Given the description of an element on the screen output the (x, y) to click on. 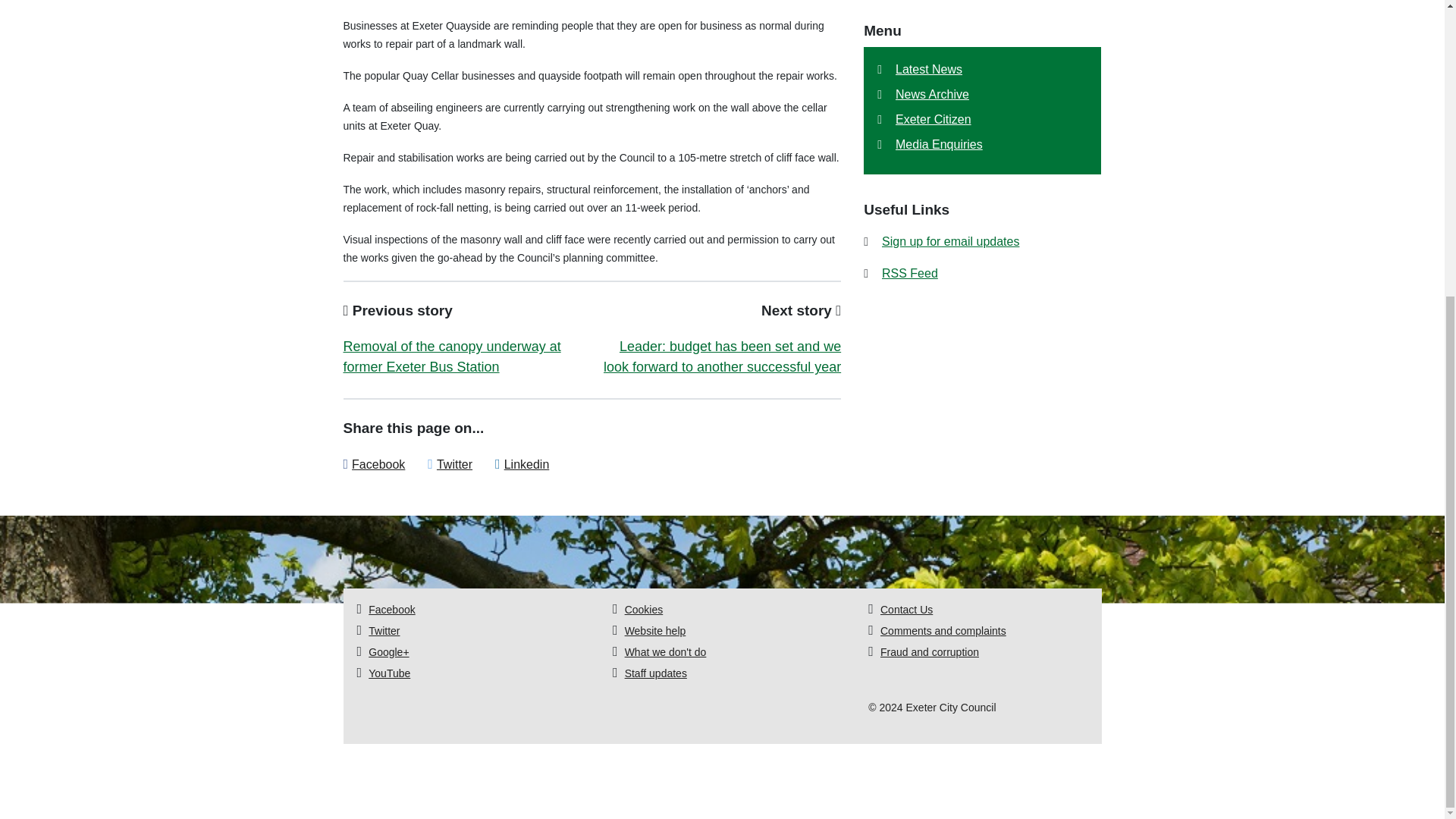
Fraud and corruption (929, 652)
Cookies (643, 609)
Removal of the canopy underway at former Exeter Bus Station (451, 356)
Staff updates (655, 673)
What we don't do (665, 652)
Linkedin (526, 463)
Facebook (391, 609)
Comments and complaints (943, 630)
Contact Us (906, 609)
YouTube (389, 673)
